Given the description of an element on the screen output the (x, y) to click on. 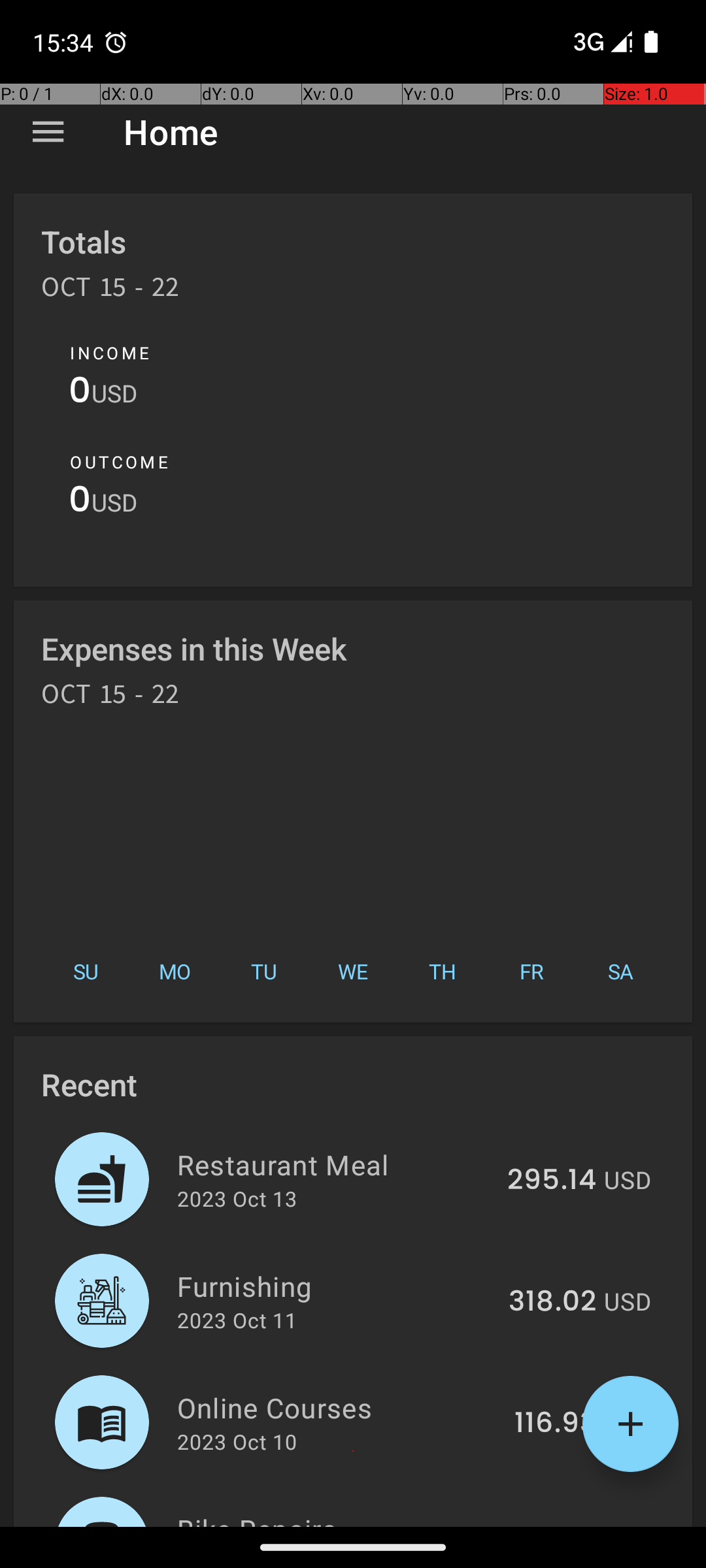
295.14 Element type: android.widget.TextView (551, 1180)
Furnishing Element type: android.widget.TextView (335, 1285)
318.02 Element type: android.widget.TextView (551, 1301)
Online Courses Element type: android.widget.TextView (338, 1407)
116.93 Element type: android.widget.TextView (554, 1423)
463.37 Element type: android.widget.TextView (548, 1524)
